Given the description of an element on the screen output the (x, y) to click on. 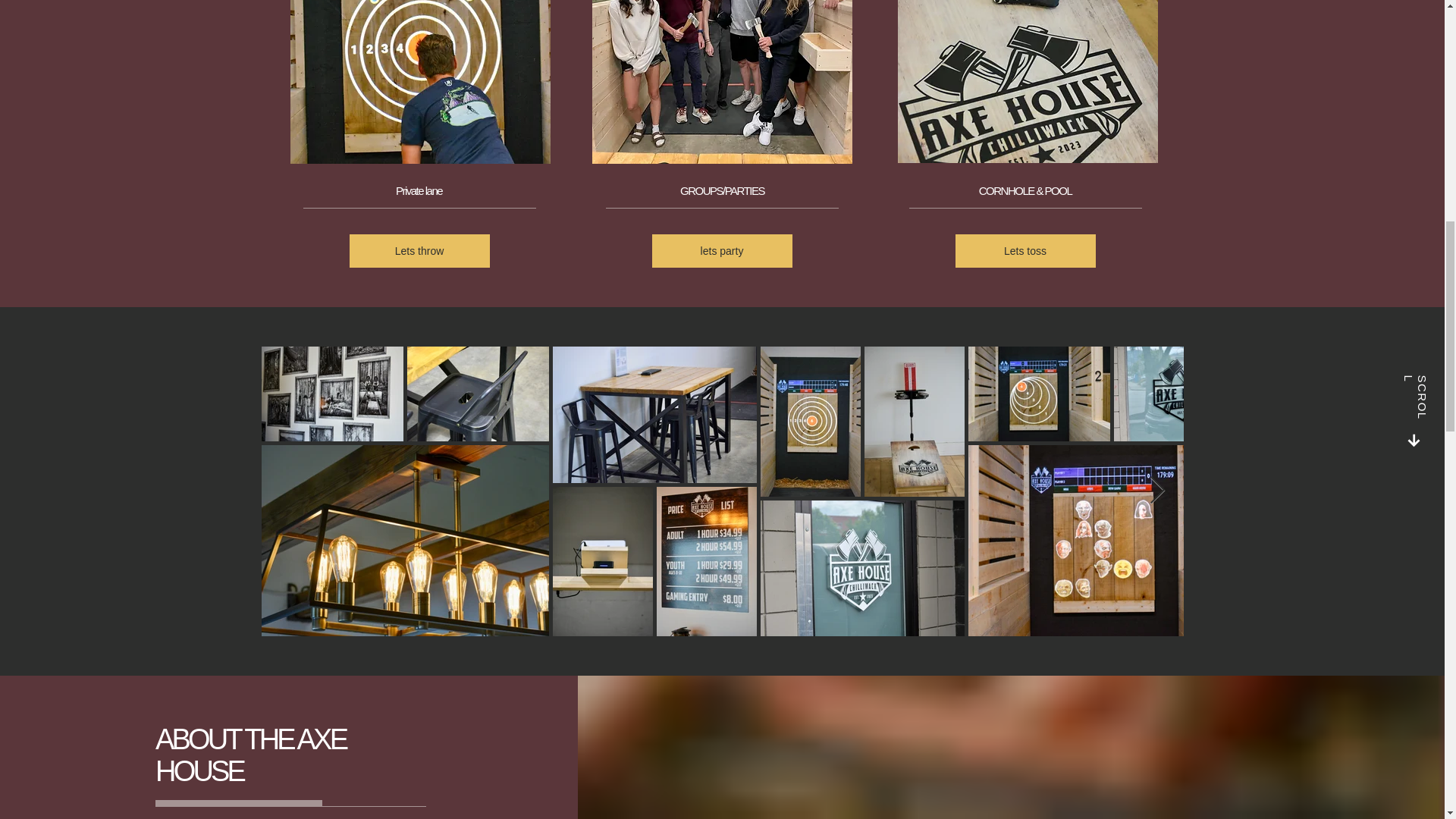
Lets toss (1025, 250)
lets party (722, 250)
Lets throw (419, 250)
